Given the description of an element on the screen output the (x, y) to click on. 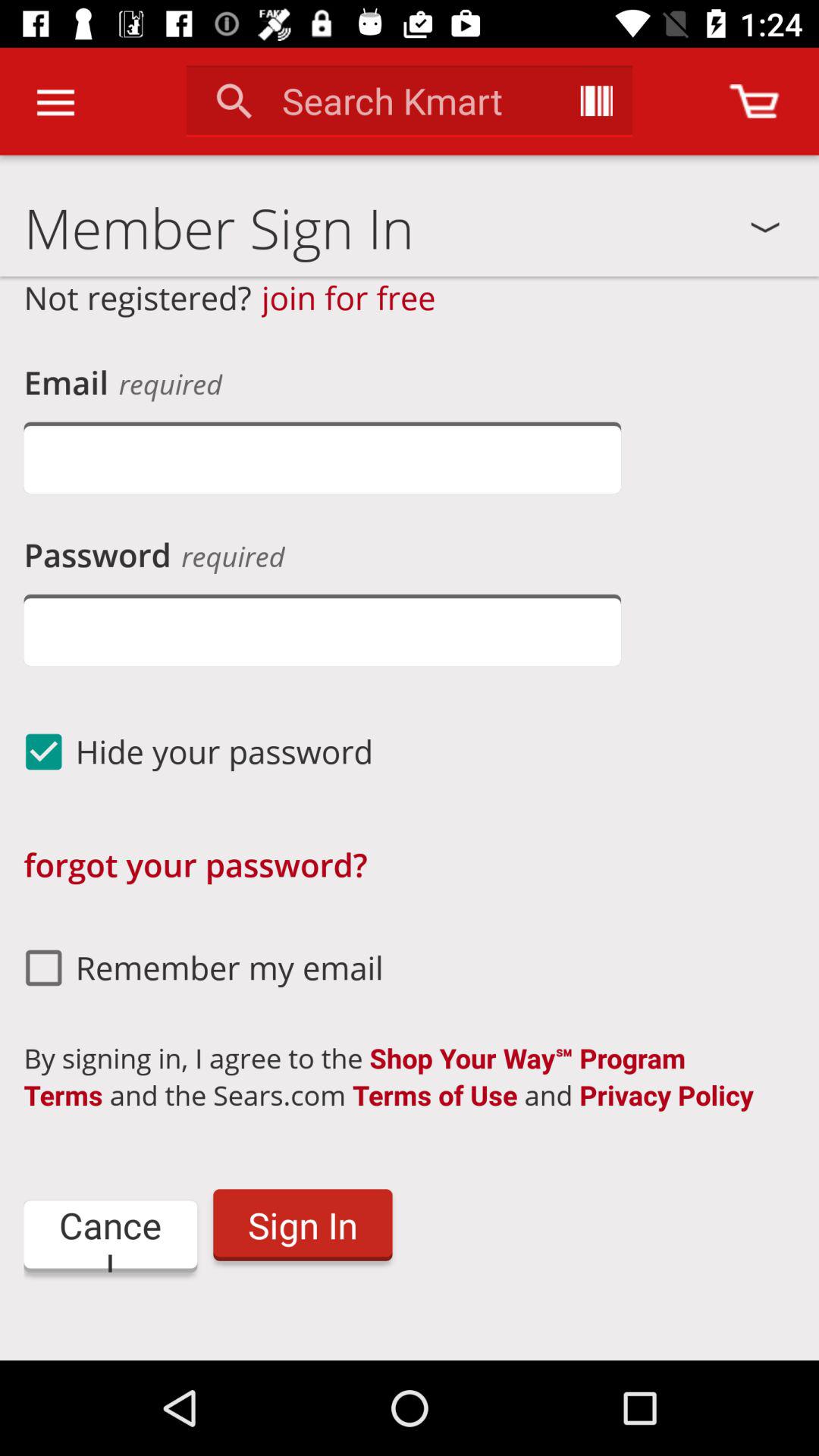
open the cancel icon (110, 1236)
